Given the description of an element on the screen output the (x, y) to click on. 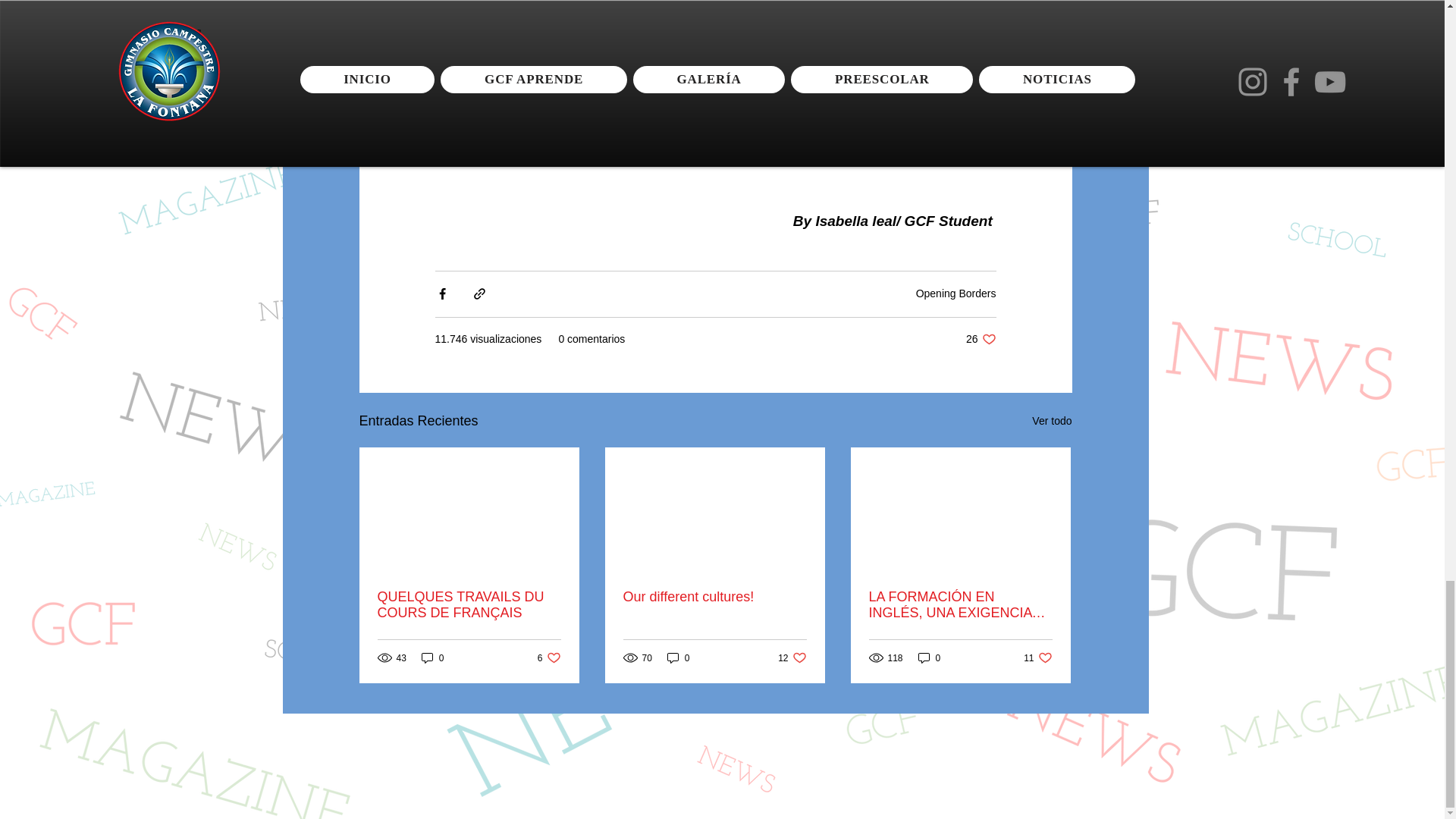
0 (980, 339)
Opening Borders (432, 657)
0 (955, 293)
Ver todo (548, 657)
Our different cultures! (929, 657)
0 (1051, 420)
